Given the description of an element on the screen output the (x, y) to click on. 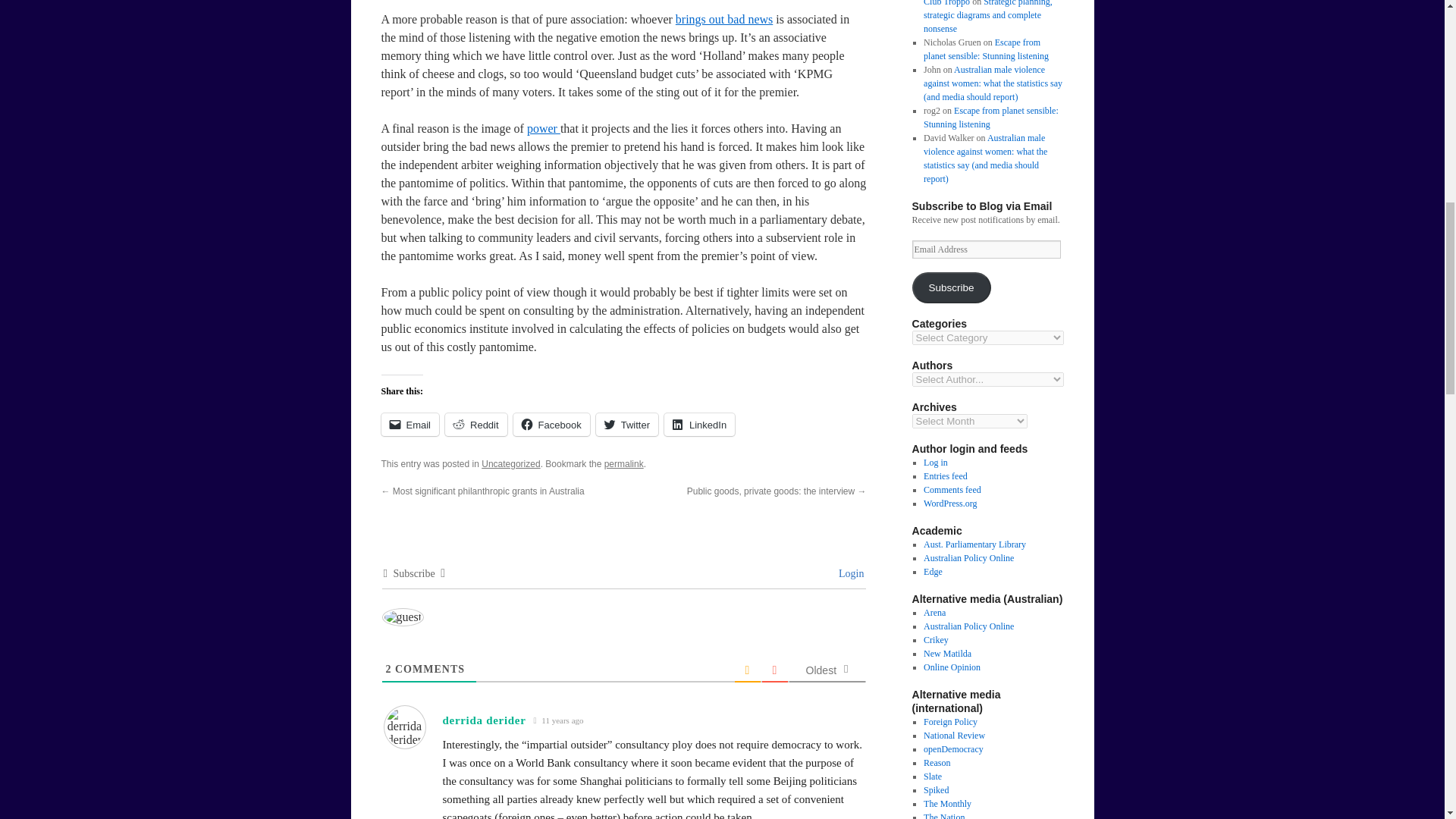
Click to share on Reddit (475, 424)
Click to share on Facebook (551, 424)
Reddit (475, 424)
power (543, 128)
permalink (623, 463)
Permalink to Consulting, bad news, and Campbell Newman (623, 463)
LinkedIn (699, 424)
Facebook (551, 424)
Uncategorized (510, 463)
Click to share on LinkedIn (699, 424)
Email (409, 424)
Click to share on Twitter (626, 424)
Twitter (626, 424)
brings out bad news (724, 19)
Click to email a link to a friend (409, 424)
